Given the description of an element on the screen output the (x, y) to click on. 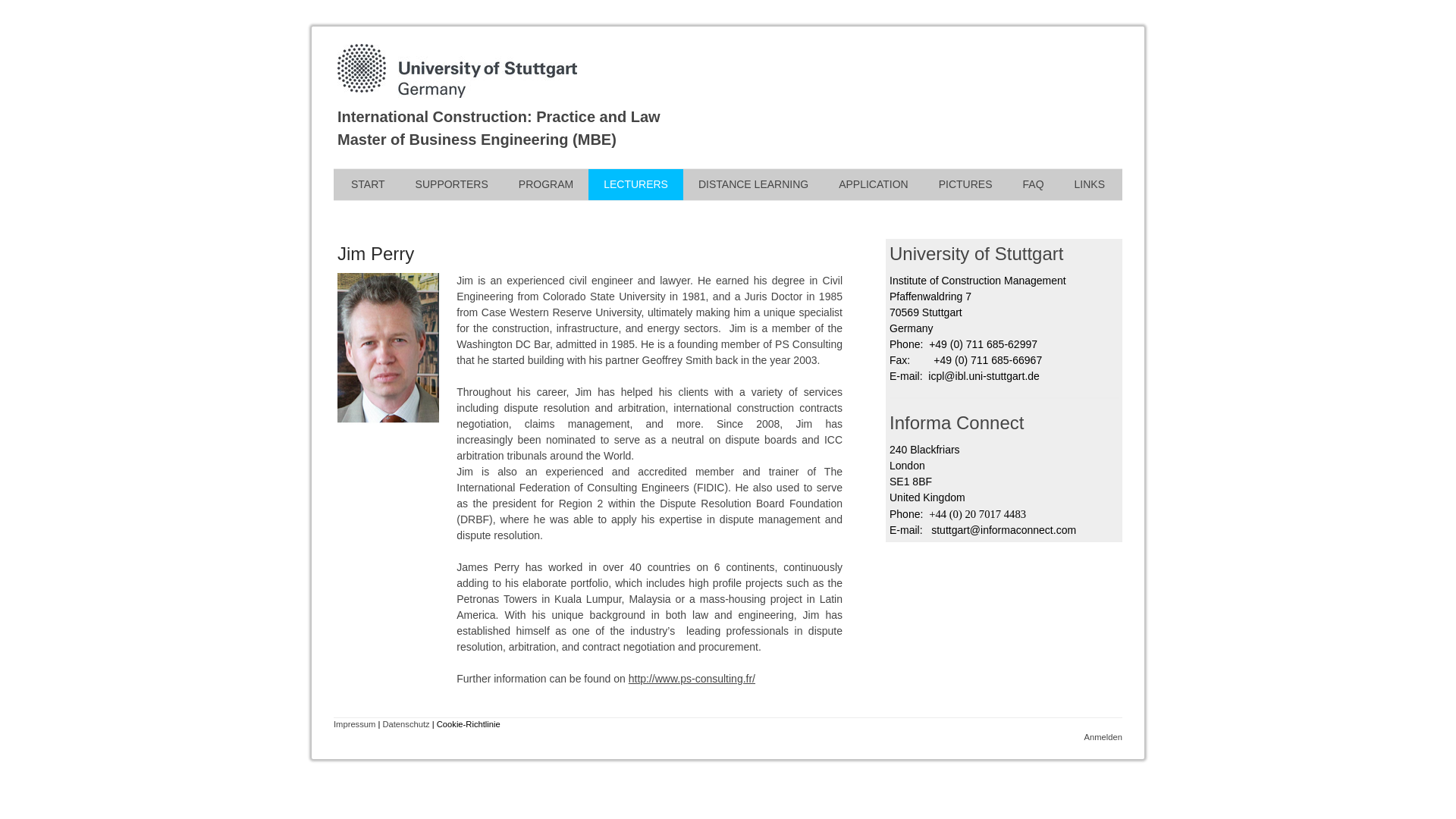
FAQ (1033, 183)
Impressum (354, 723)
SUPPORTERS (451, 183)
PROGRAM (545, 183)
APPLICATION (873, 183)
START (368, 183)
DISTANCE LEARNING (753, 183)
PICTURES (965, 183)
LINKS (1089, 183)
Datenschutz (405, 723)
